Given the description of an element on the screen output the (x, y) to click on. 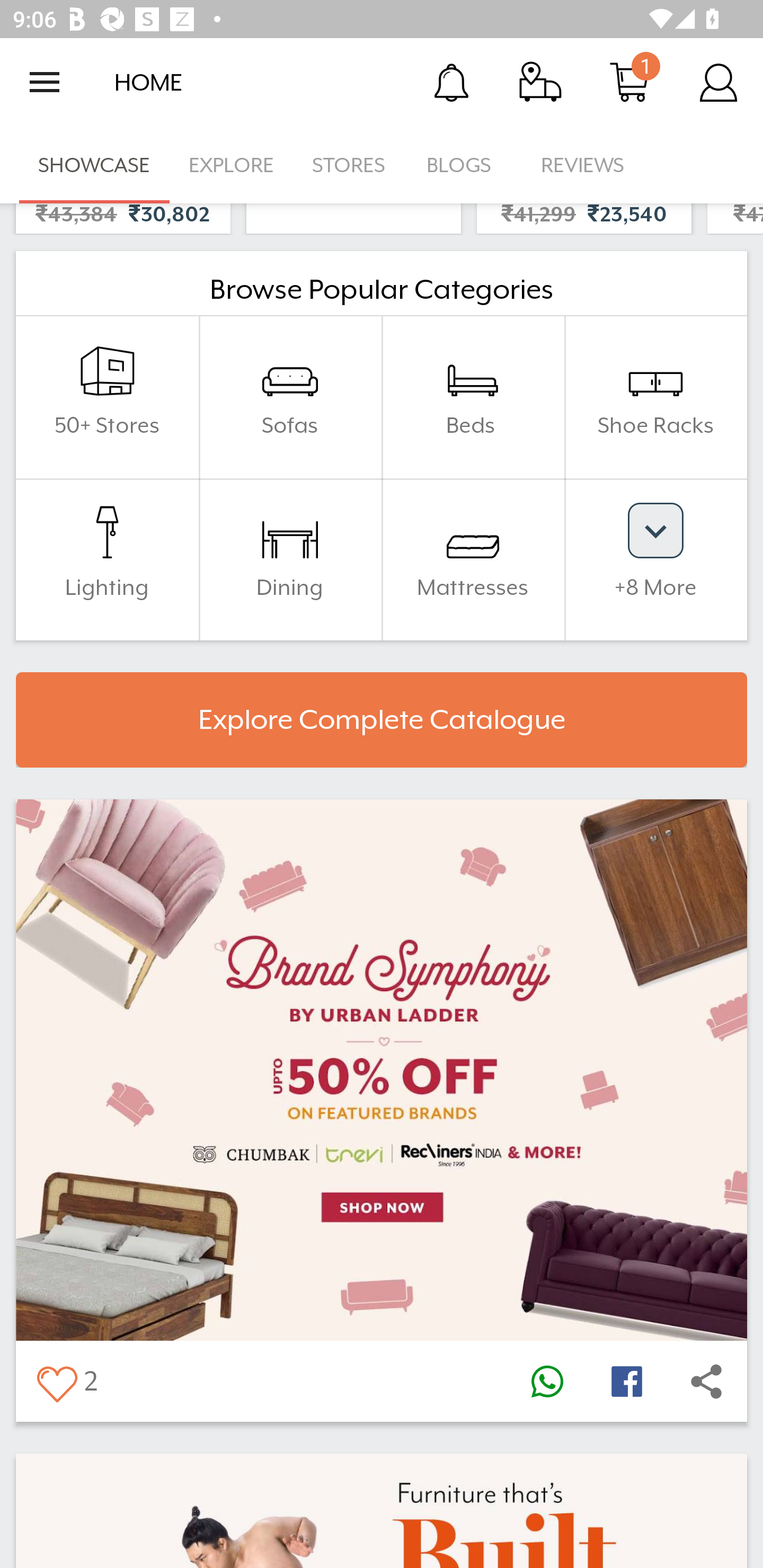
Open navigation drawer (44, 82)
Notification (450, 81)
Track Order (540, 81)
Cart (629, 81)
Account Details (718, 81)
SHOWCASE (94, 165)
EXPLORE (230, 165)
STORES (349, 165)
BLOGS (464, 165)
REVIEWS (582, 165)
50+ Stores (106, 397)
Sofas (289, 397)
Beds  (473, 397)
Shoe Racks (655, 397)
Lighting (106, 558)
Dining (289, 558)
Mattresses (473, 558)
 +8 More (655, 558)
Explore Complete Catalogue (381, 720)
 (55, 1381)
 (547, 1381)
 (626, 1381)
 (706, 1381)
